Given the description of an element on the screen output the (x, y) to click on. 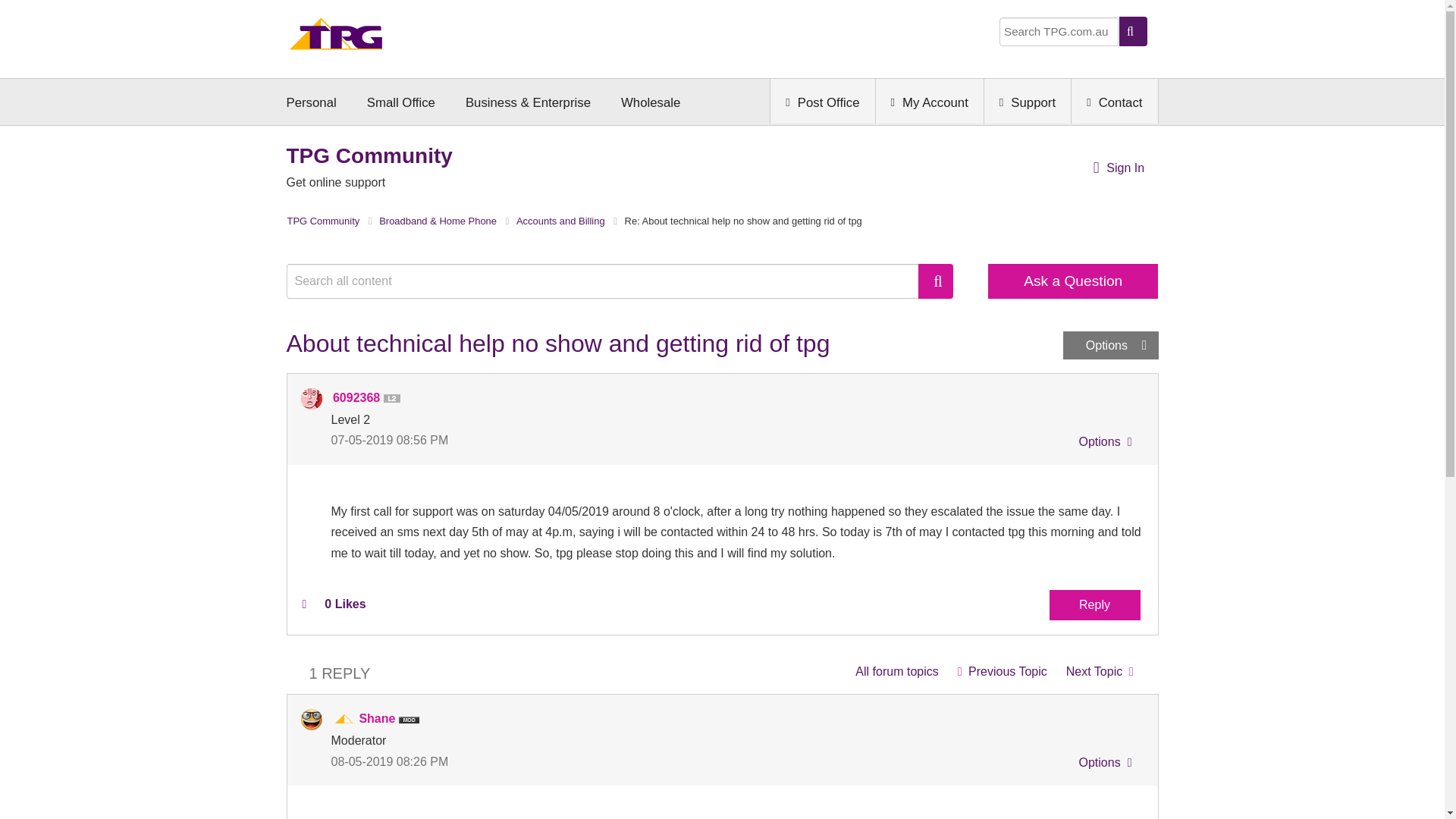
Search (610, 280)
Show option menu (1103, 443)
Level 2 (395, 398)
Search (935, 280)
Home (335, 38)
Show option menu (1110, 345)
6092368 (310, 398)
Search (935, 280)
Moderator (344, 719)
The total number of kudos this post has received. (344, 604)
NBN cancellation (1099, 671)
Posted on (526, 439)
Shane (310, 719)
Accounts and Billing (896, 671)
